Given the description of an element on the screen output the (x, y) to click on. 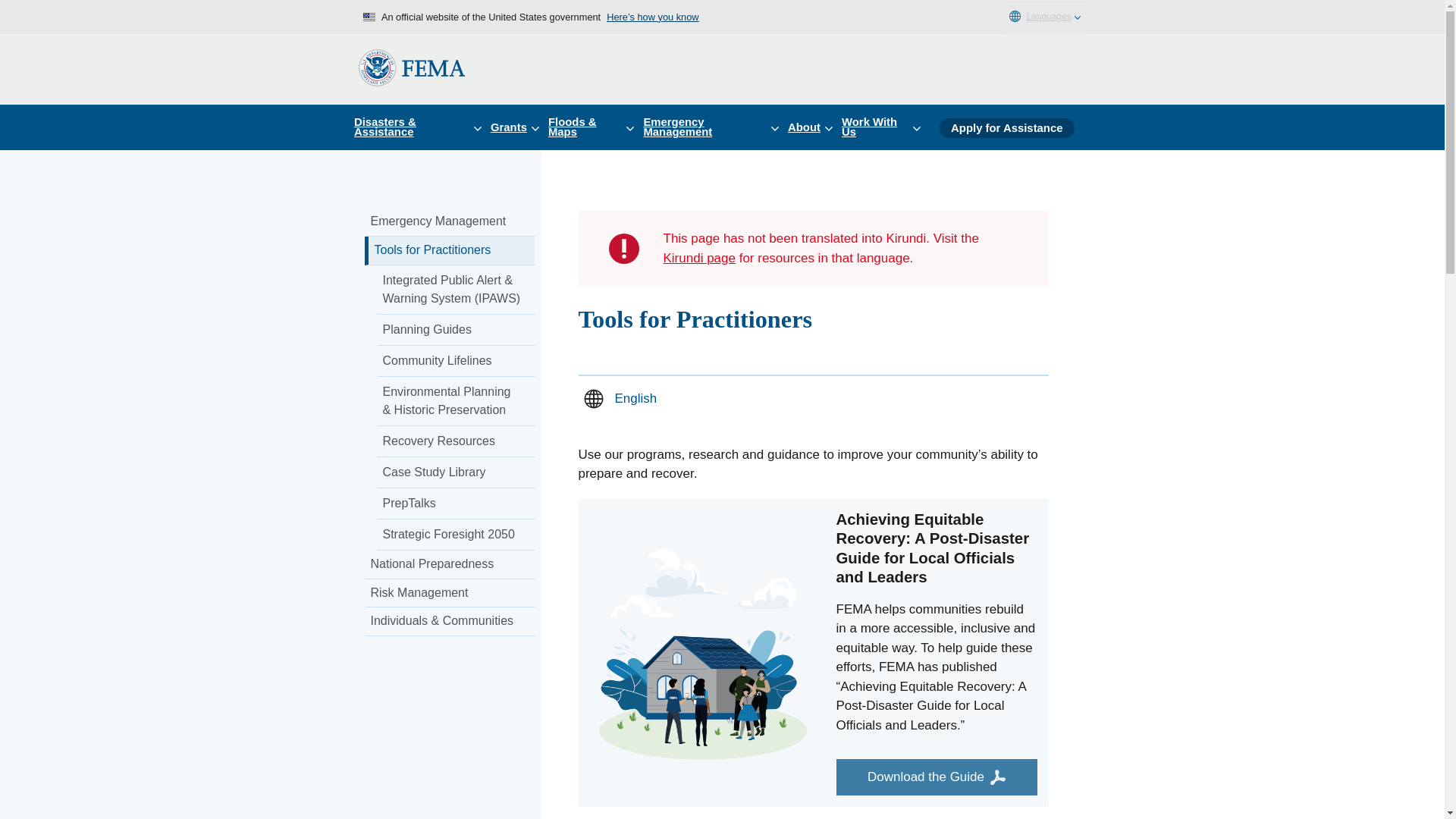
FEMA logo (411, 67)
Languages (1044, 16)
Skip to main content (16, 16)
